Given the description of an element on the screen output the (x, y) to click on. 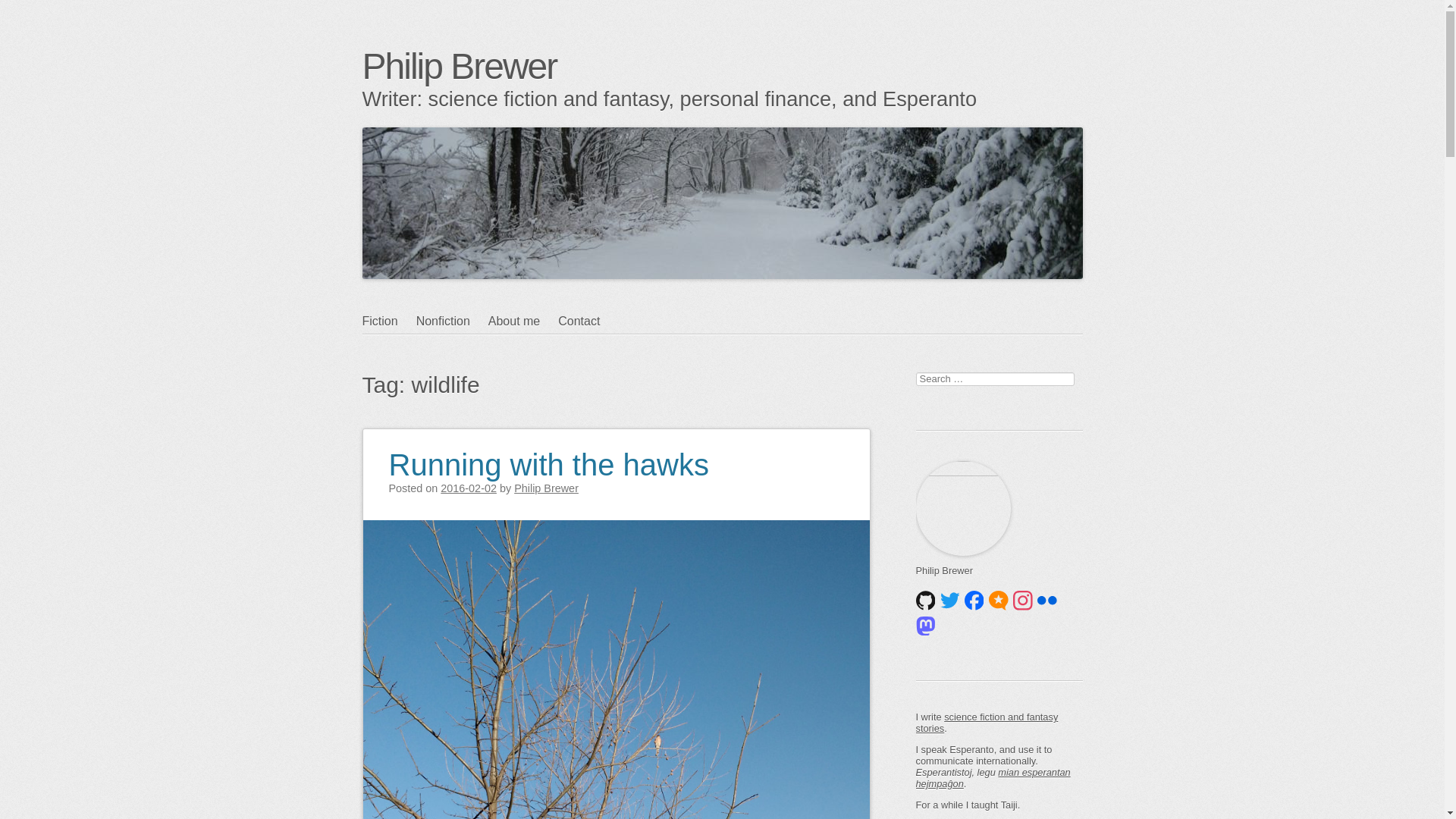
Contact (587, 321)
Nonfiction (451, 321)
Running with the hawks (547, 455)
Main menu (435, 350)
Main menu (435, 350)
Fiction (389, 321)
2016-02-02 (468, 488)
View all posts by Philip Brewer (545, 488)
Philip Brewer (459, 65)
9:56 am (468, 488)
Permalink to Running with the hawks (547, 455)
Philip Brewer (459, 65)
Philip Brewer (545, 488)
